Given the description of an element on the screen output the (x, y) to click on. 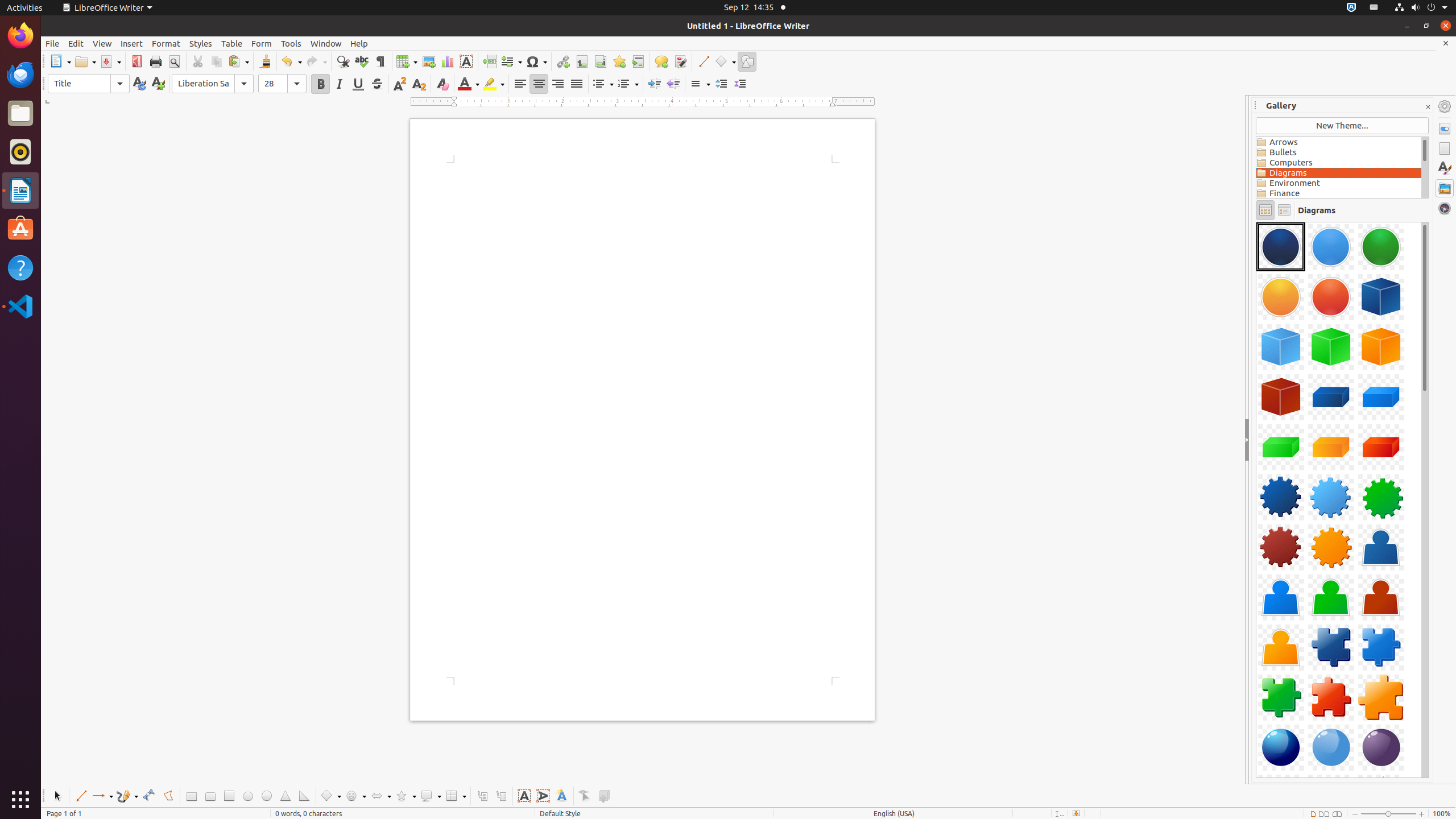
Underline Element type: push-button (357, 83)
Font Name Element type: combo-box (212, 83)
Arrow Shapes Element type: push-button (380, 795)
Form Element type: menu (261, 43)
Arrows Element type: list-item (1338, 142)
